Given the description of an element on the screen output the (x, y) to click on. 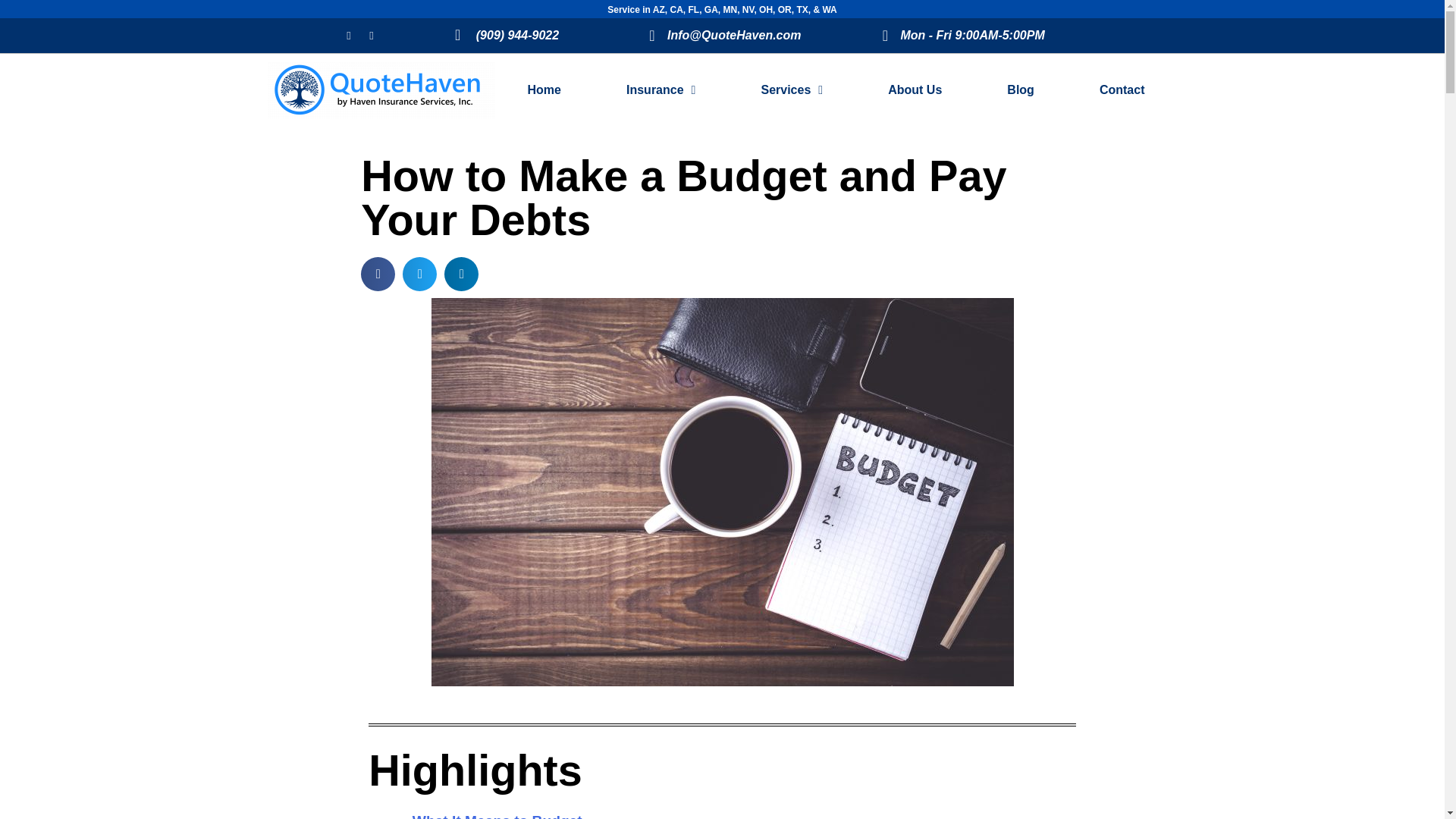
Insurance Services (792, 89)
Facebook (348, 35)
Insurance Services (661, 89)
Linkedin (370, 35)
Blog (1020, 89)
Services (792, 89)
Insurance (661, 89)
Homepage (543, 89)
Home (543, 89)
About Us (915, 89)
